Given the description of an element on the screen output the (x, y) to click on. 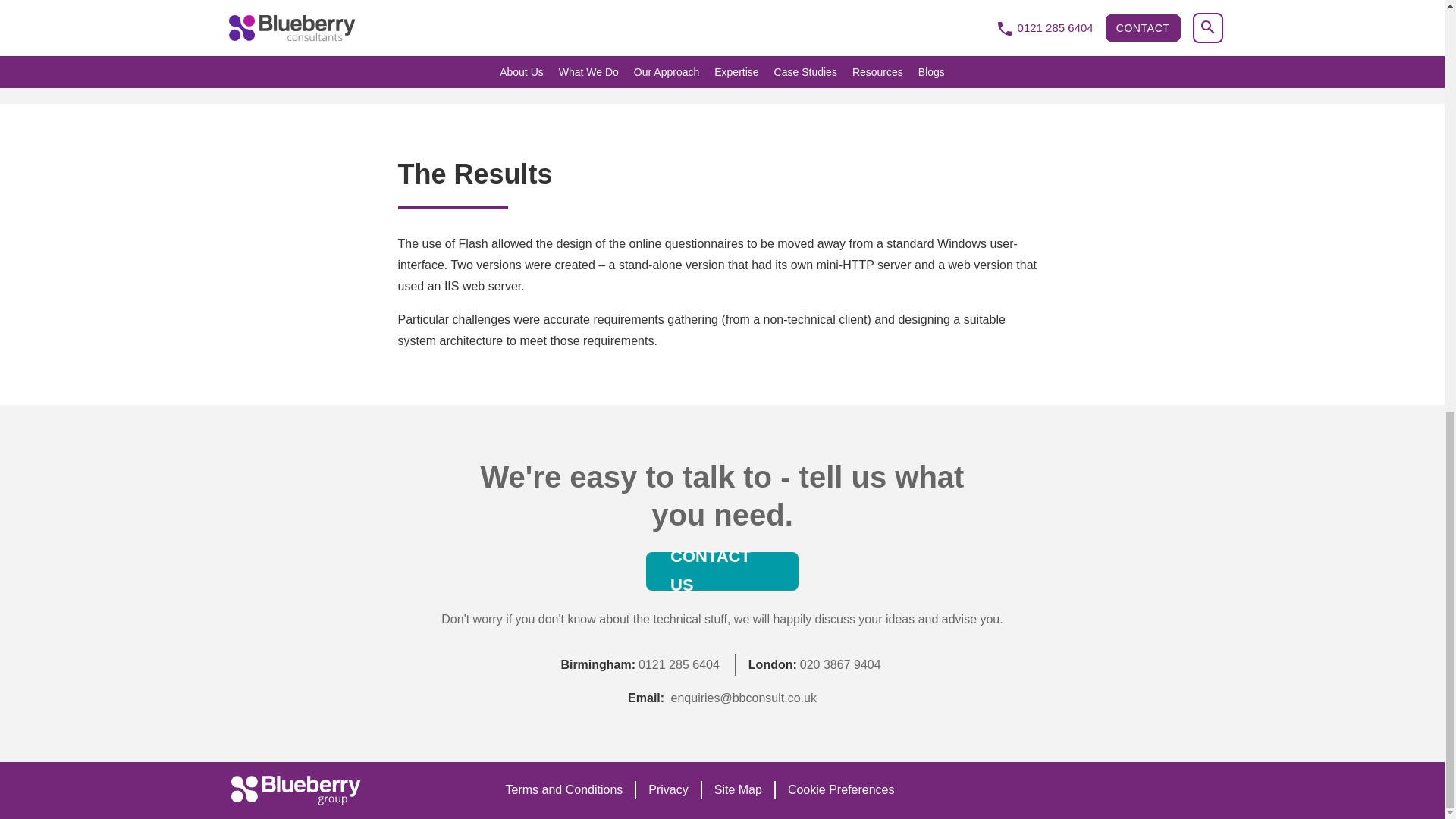
Contact Number (839, 664)
Privacy (667, 790)
Click for more (737, 790)
Contact Number (679, 664)
Terms and Conditions (563, 790)
Feel free to email us. (743, 697)
CONTACT US (721, 571)
